Given the description of an element on the screen output the (x, y) to click on. 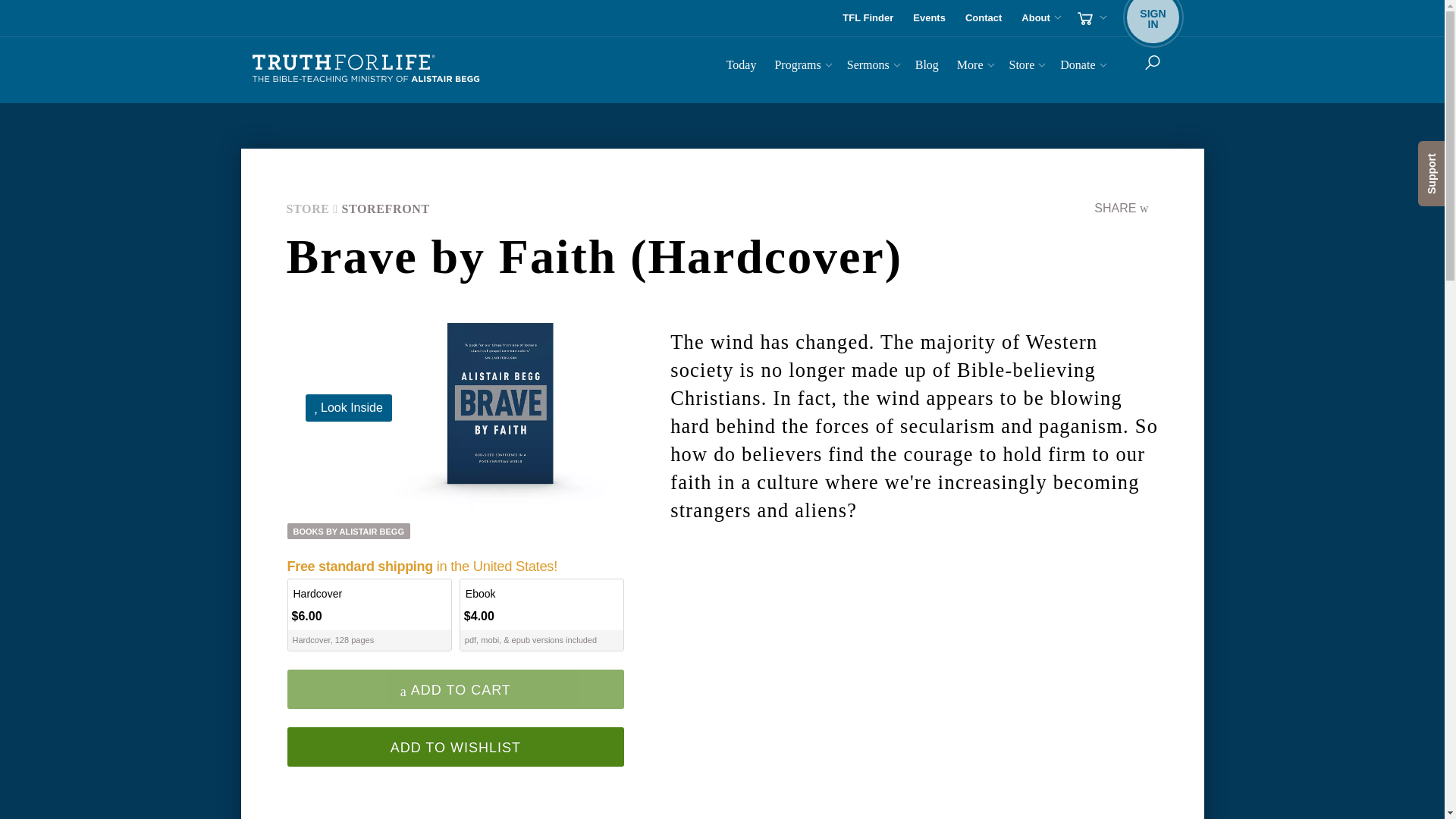
TFL Finder (867, 18)
Events (929, 18)
Contact (983, 18)
Programs (1152, 18)
cart (801, 66)
YouTube video player (1090, 18)
Today (913, 690)
Truth For Life (741, 66)
About (365, 68)
